Given the description of an element on the screen output the (x, y) to click on. 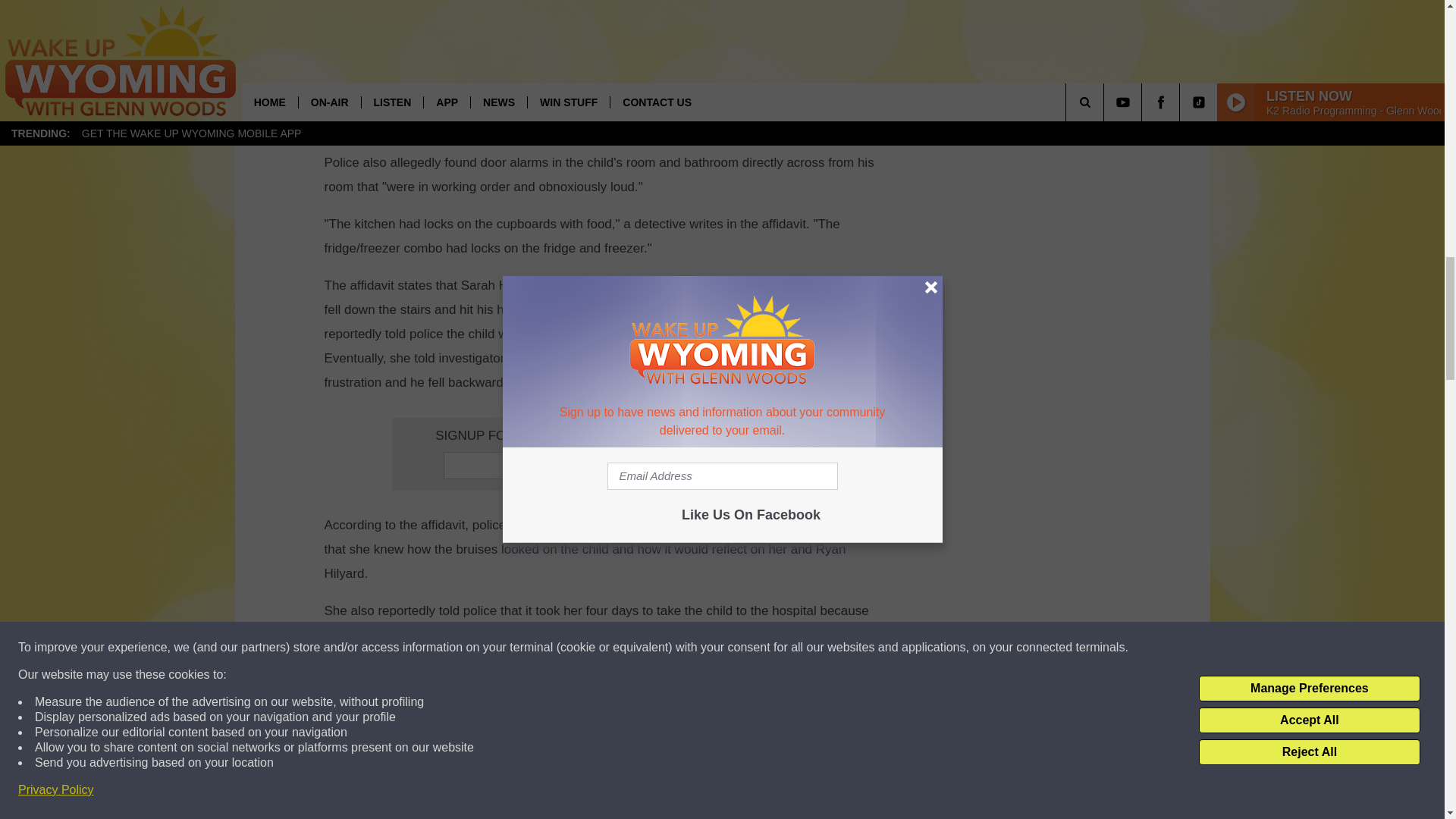
Email Address (600, 465)
